Given the description of an element on the screen output the (x, y) to click on. 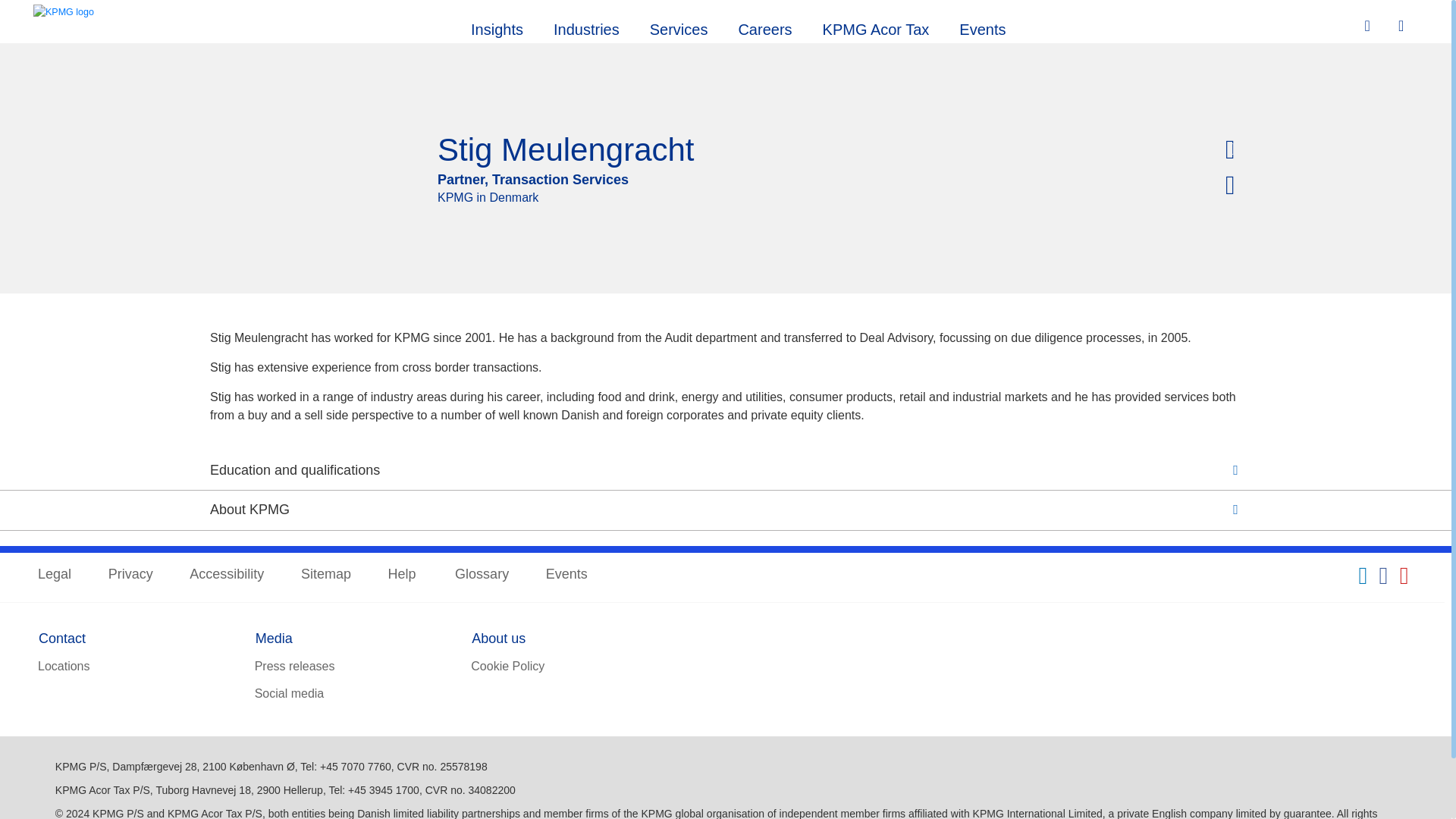
KPMG Acor Tax (876, 27)
Sitemap (325, 574)
Industries (586, 27)
Accessibility (226, 574)
Education and qualifications (725, 470)
Events (981, 27)
Services (678, 27)
Search (1369, 26)
Help (403, 574)
Events (567, 574)
